Given the description of an element on the screen output the (x, y) to click on. 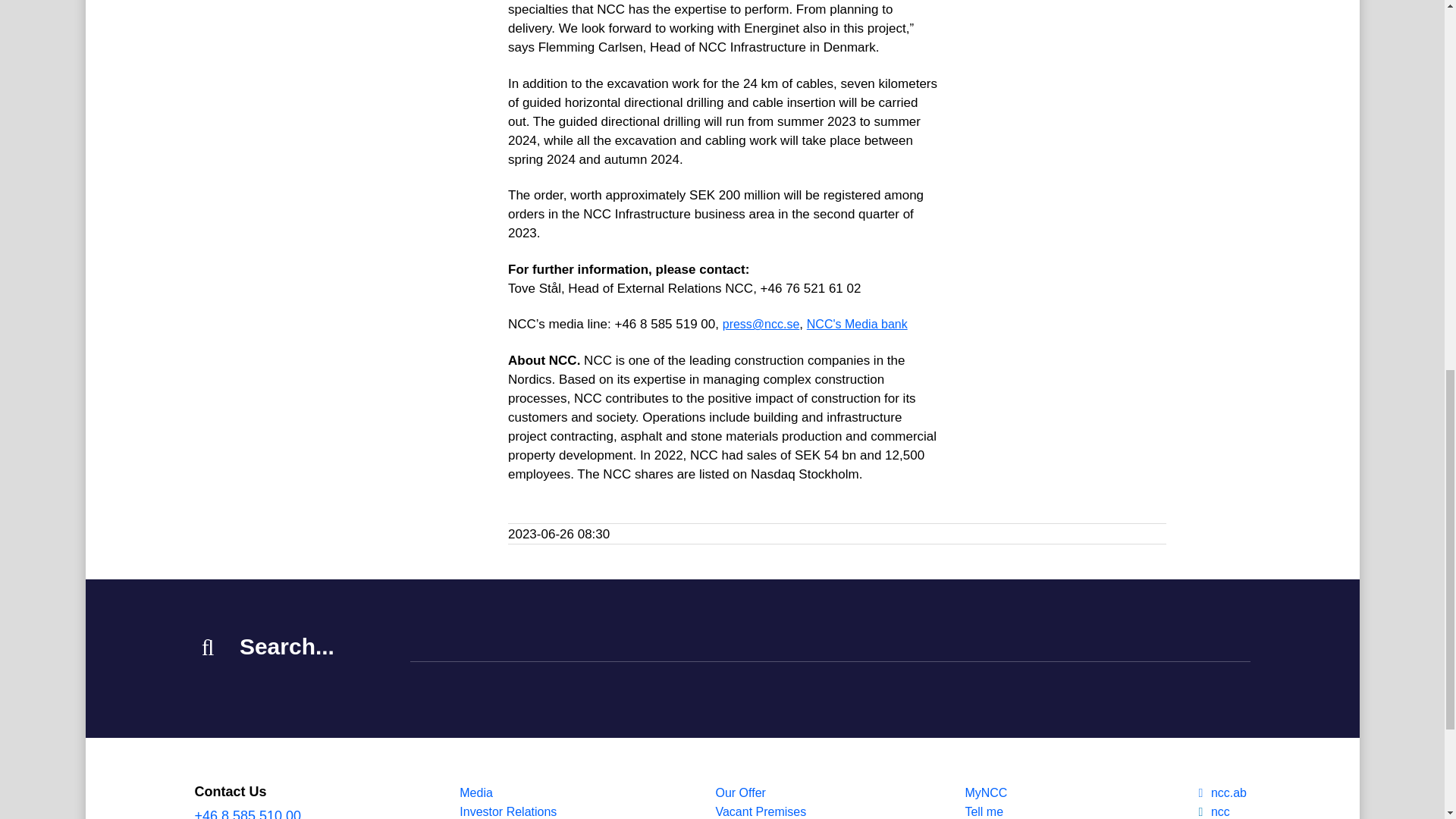
Search... (830, 648)
Media (508, 792)
NCC's Media bank (856, 323)
